Given the description of an element on the screen output the (x, y) to click on. 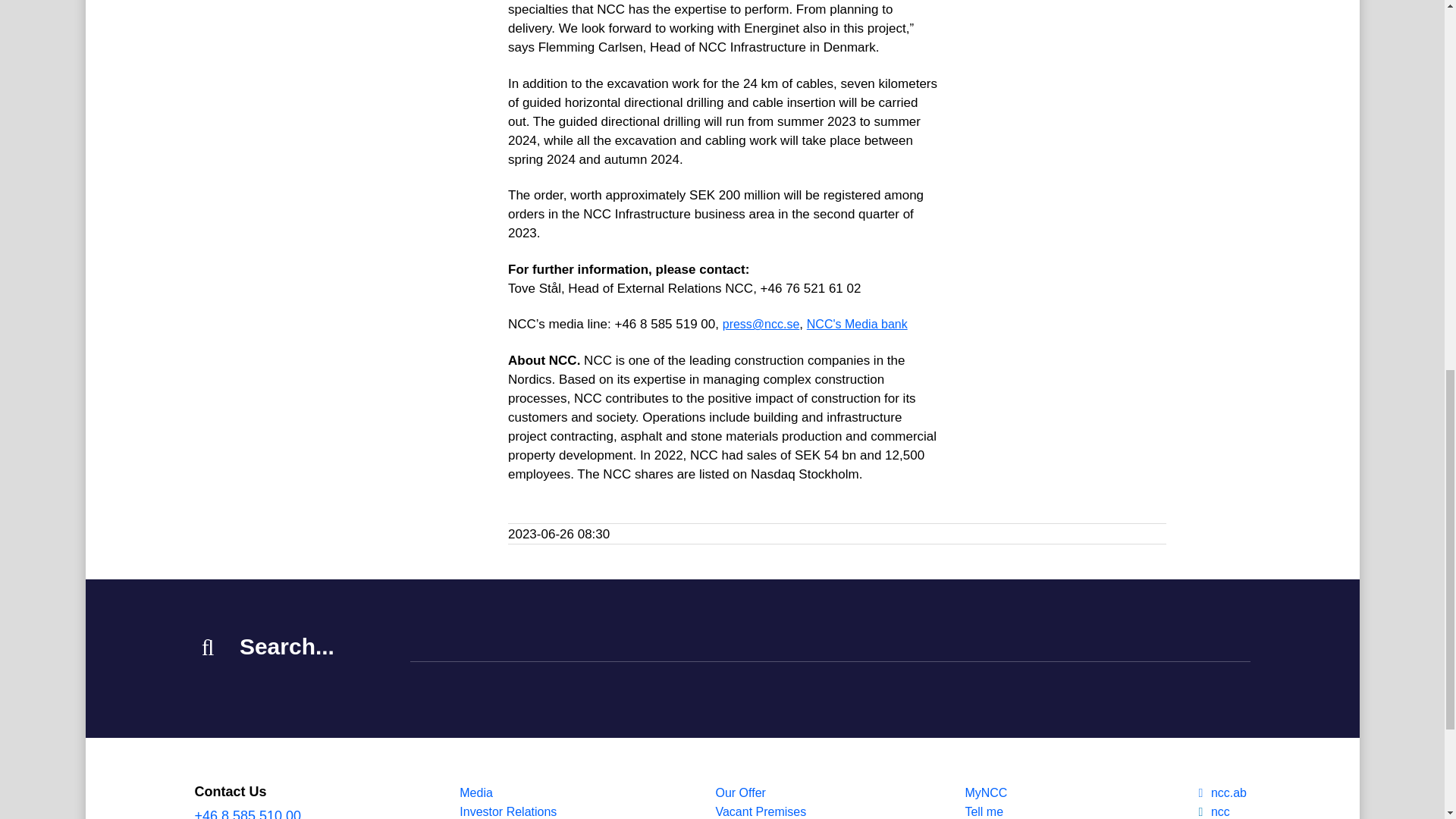
Search... (830, 648)
Media (508, 792)
NCC's Media bank (856, 323)
